Given the description of an element on the screen output the (x, y) to click on. 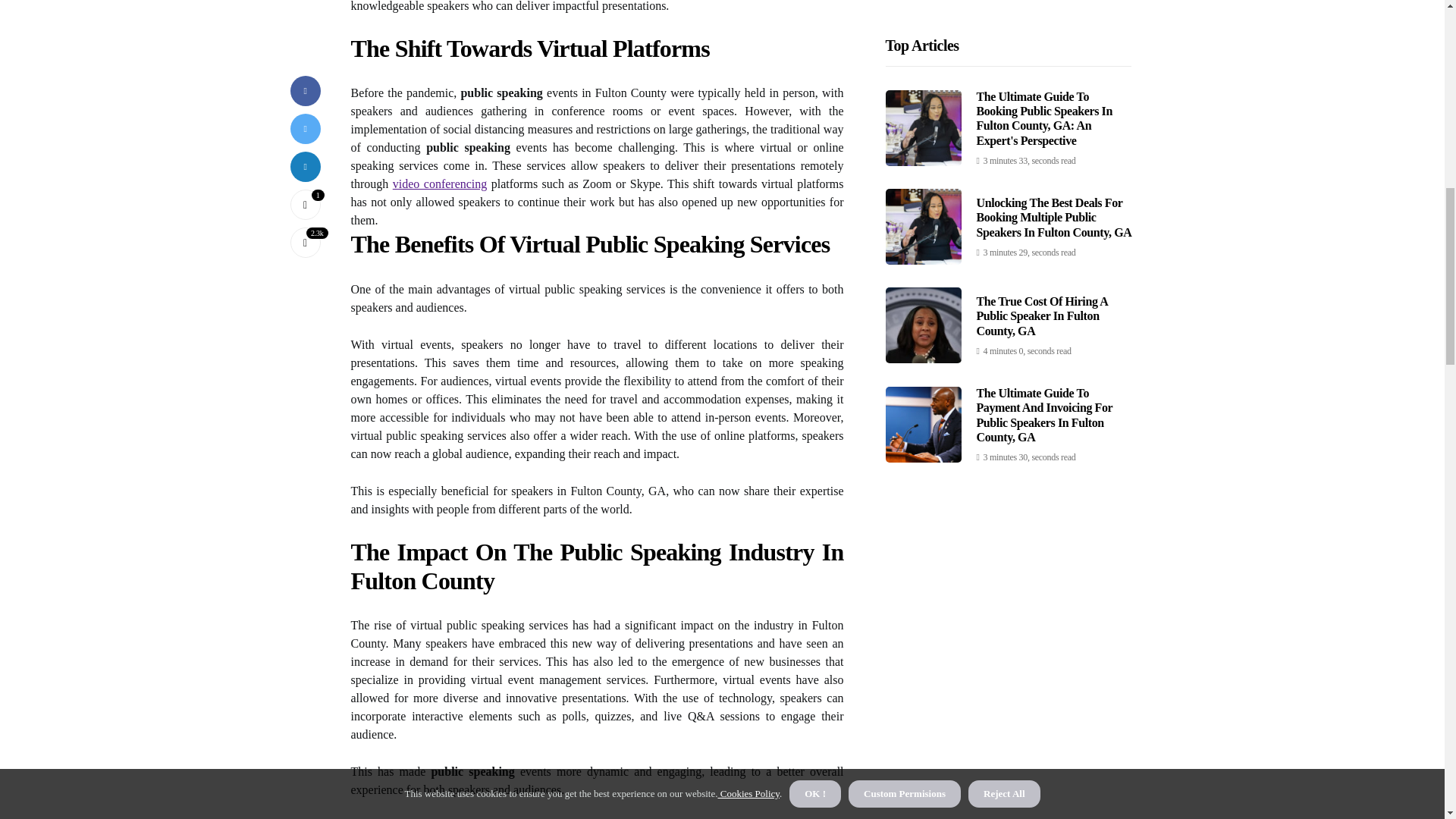
video conferencing (440, 183)
